Given the description of an element on the screen output the (x, y) to click on. 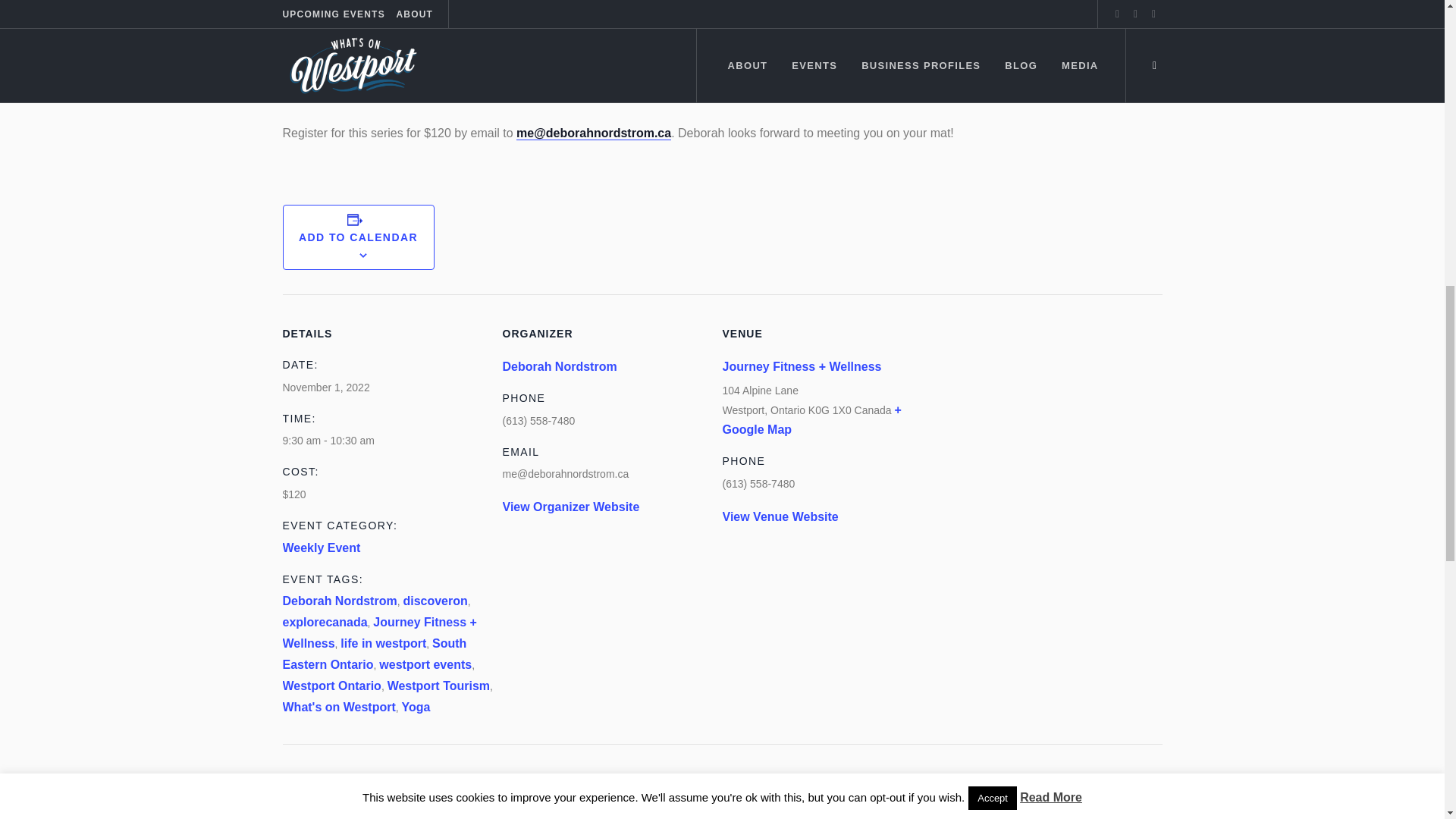
Click to view a Google Map (811, 419)
Westport Ontario (331, 685)
Deborah Nordstrom (558, 366)
Deborah Nordstrom (339, 600)
westport events (424, 664)
Yoga (415, 707)
View Organizer Website (570, 506)
explorecanada (324, 621)
Deborah Nordstrom (558, 366)
What's on Westport (338, 707)
2022-11-01 (392, 440)
discoveron (435, 600)
Westport Tourism (438, 685)
life in westport (383, 643)
ADD TO CALENDAR (357, 236)
